Given the description of an element on the screen output the (x, y) to click on. 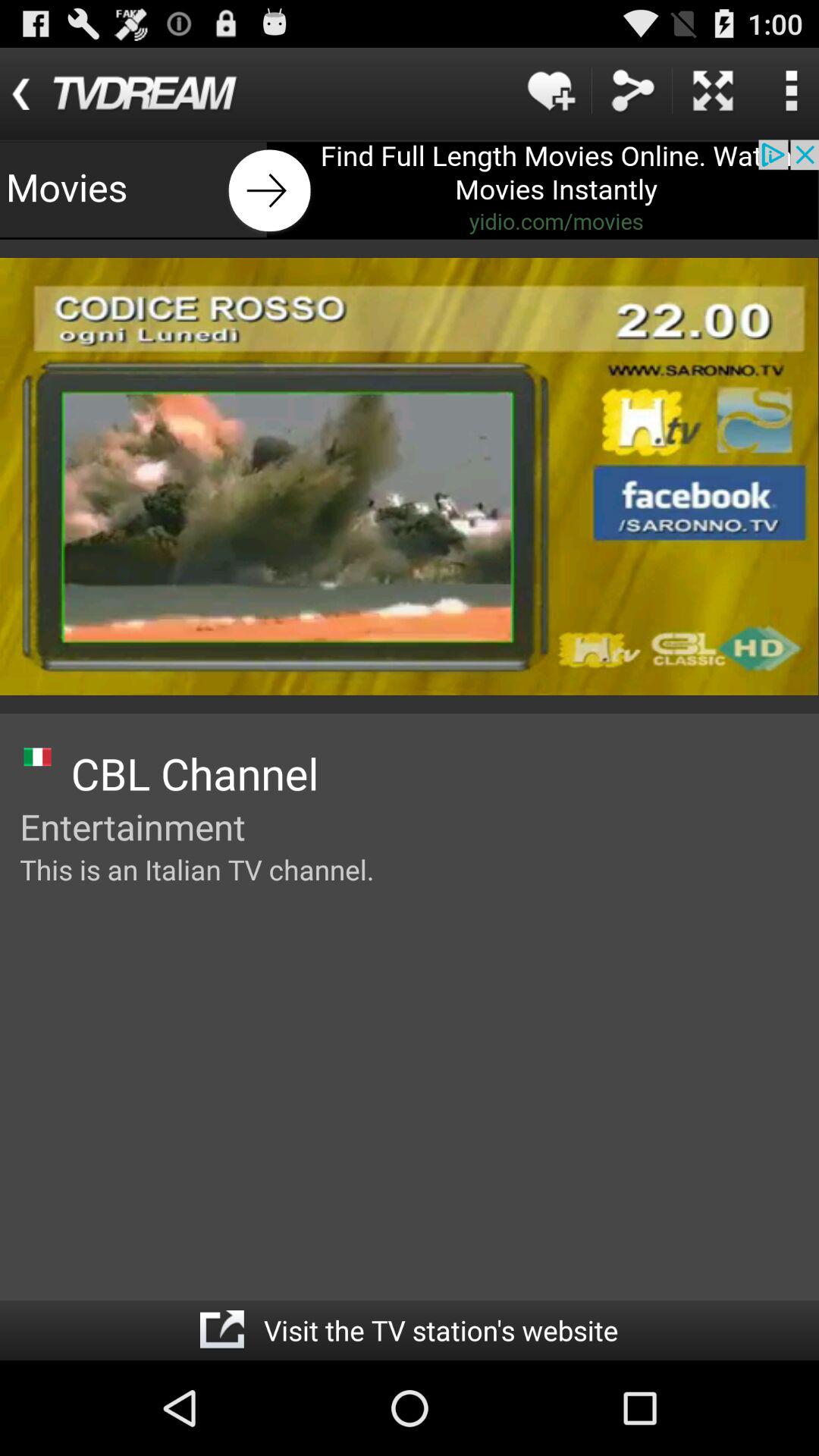
over view the option (791, 90)
